Given the description of an element on the screen output the (x, y) to click on. 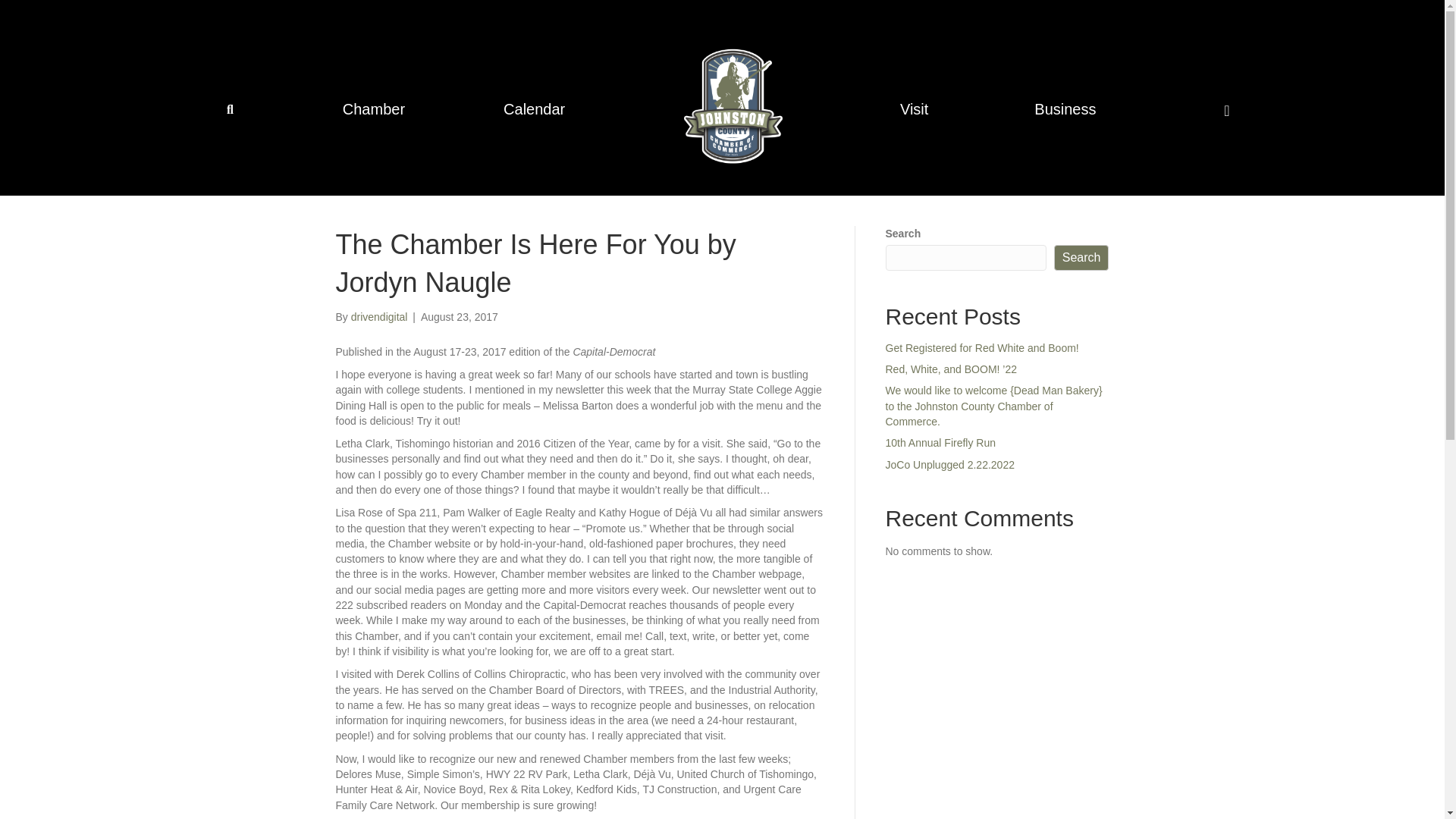
Business (1068, 108)
Chamber (373, 108)
Calendar (534, 108)
HD logo (732, 105)
Visit (917, 108)
